Given the description of an element on the screen output the (x, y) to click on. 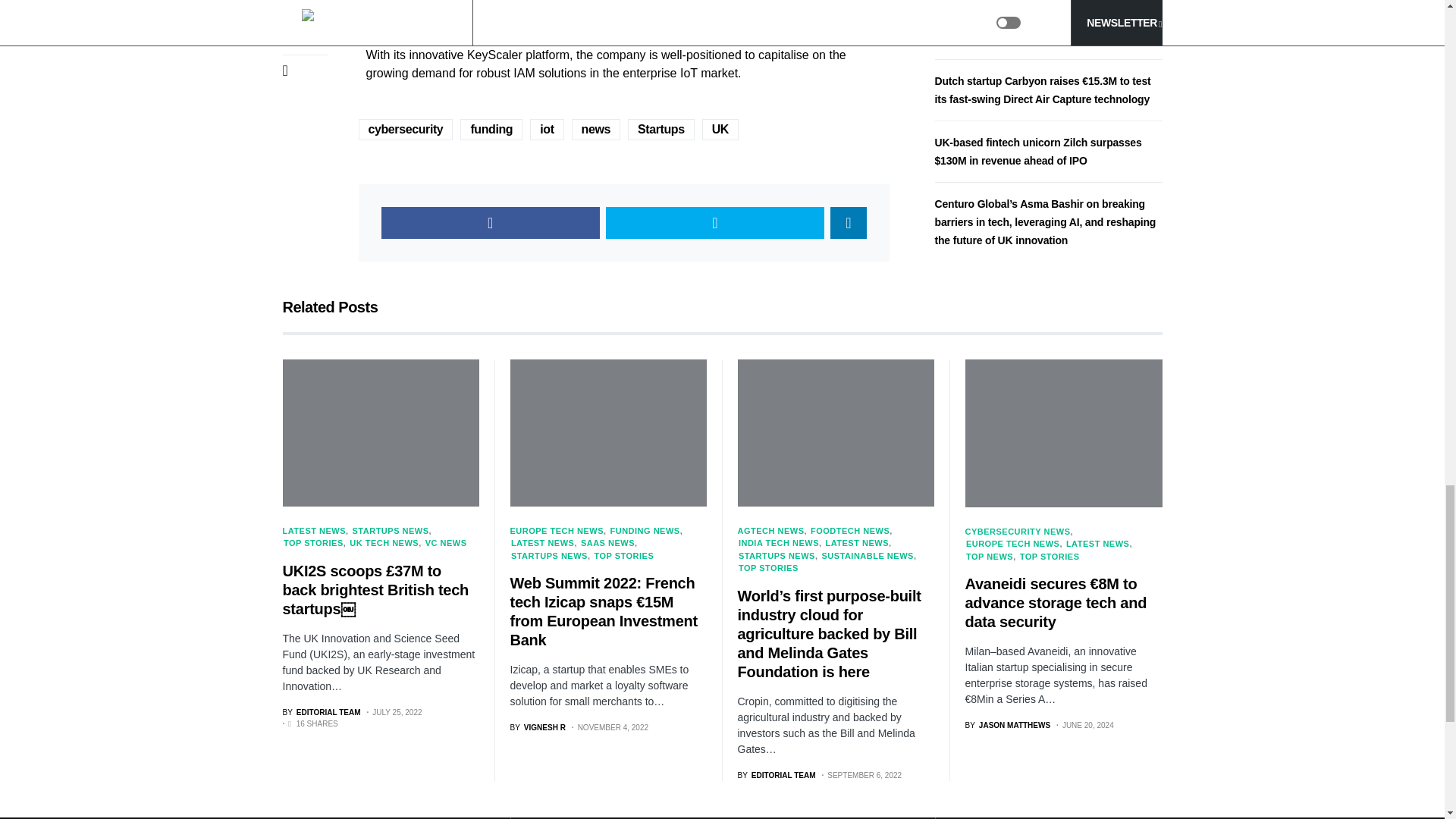
View all posts by Editorial Team (320, 712)
View all posts by Vignesh R (536, 727)
View all posts by Jason Matthews (1006, 725)
View all posts by Editorial Team (775, 775)
